Given the description of an element on the screen output the (x, y) to click on. 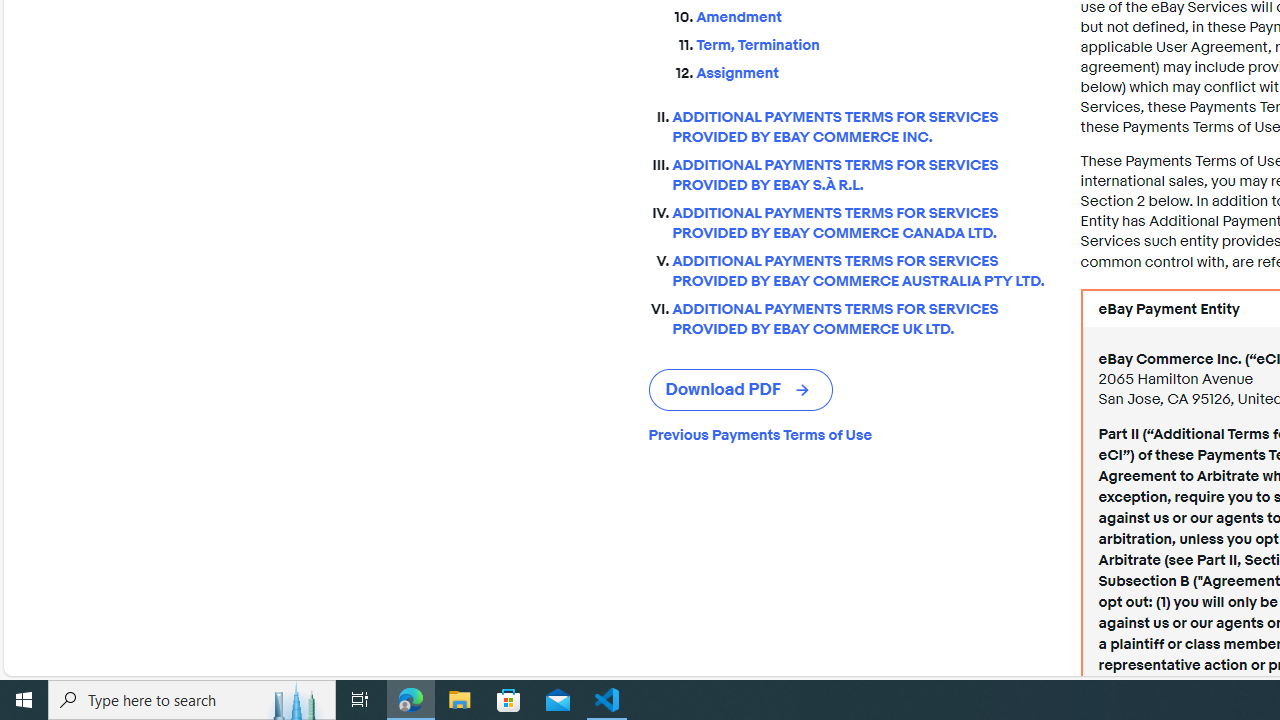
Term, Termination (872, 41)
Download PDF  (740, 389)
Class: ski-btn__arrow (804, 390)
Assignment (872, 69)
Amendment (872, 17)
